Given the description of an element on the screen output the (x, y) to click on. 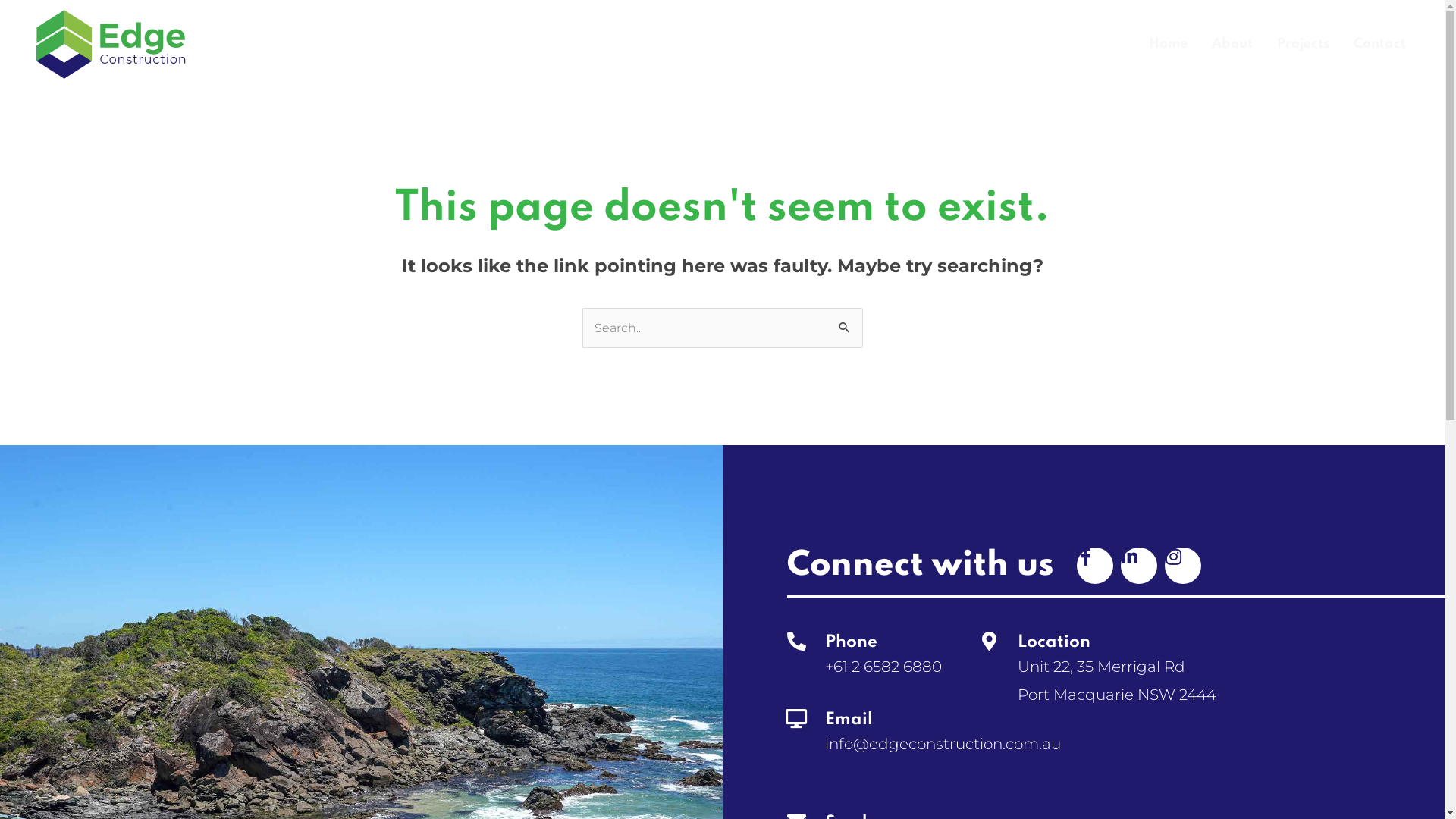
Linkedin-in Element type: text (1138, 565)
Projects Element type: text (1302, 44)
Facebook-f Element type: text (1094, 565)
info@edgeconstruction.com.au Element type: text (942, 743)
+61 2 6582 6880 Element type: text (883, 666)
Home Element type: text (1167, 44)
Instagram Element type: text (1182, 565)
Search Element type: text (845, 328)
About Element type: text (1231, 44)
Contact Element type: text (1379, 44)
